Given the description of an element on the screen output the (x, y) to click on. 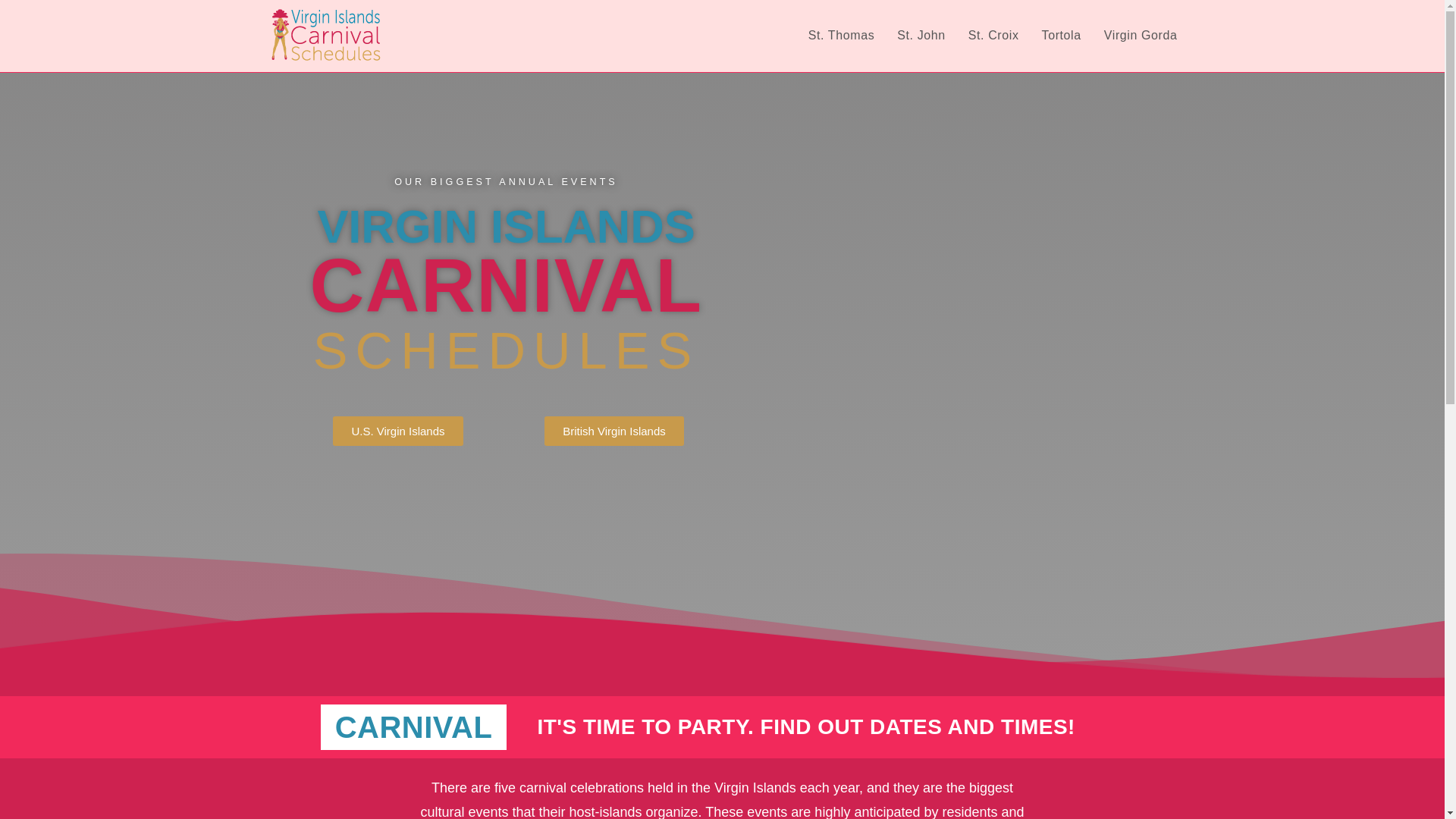
Virgin Gorda (1141, 35)
St. Thomas (841, 35)
St. John (920, 35)
St. Croix (993, 35)
British Virgin Islands (614, 430)
U.S. Virgin Islands (398, 430)
Tortola (1061, 35)
